Given the description of an element on the screen output the (x, y) to click on. 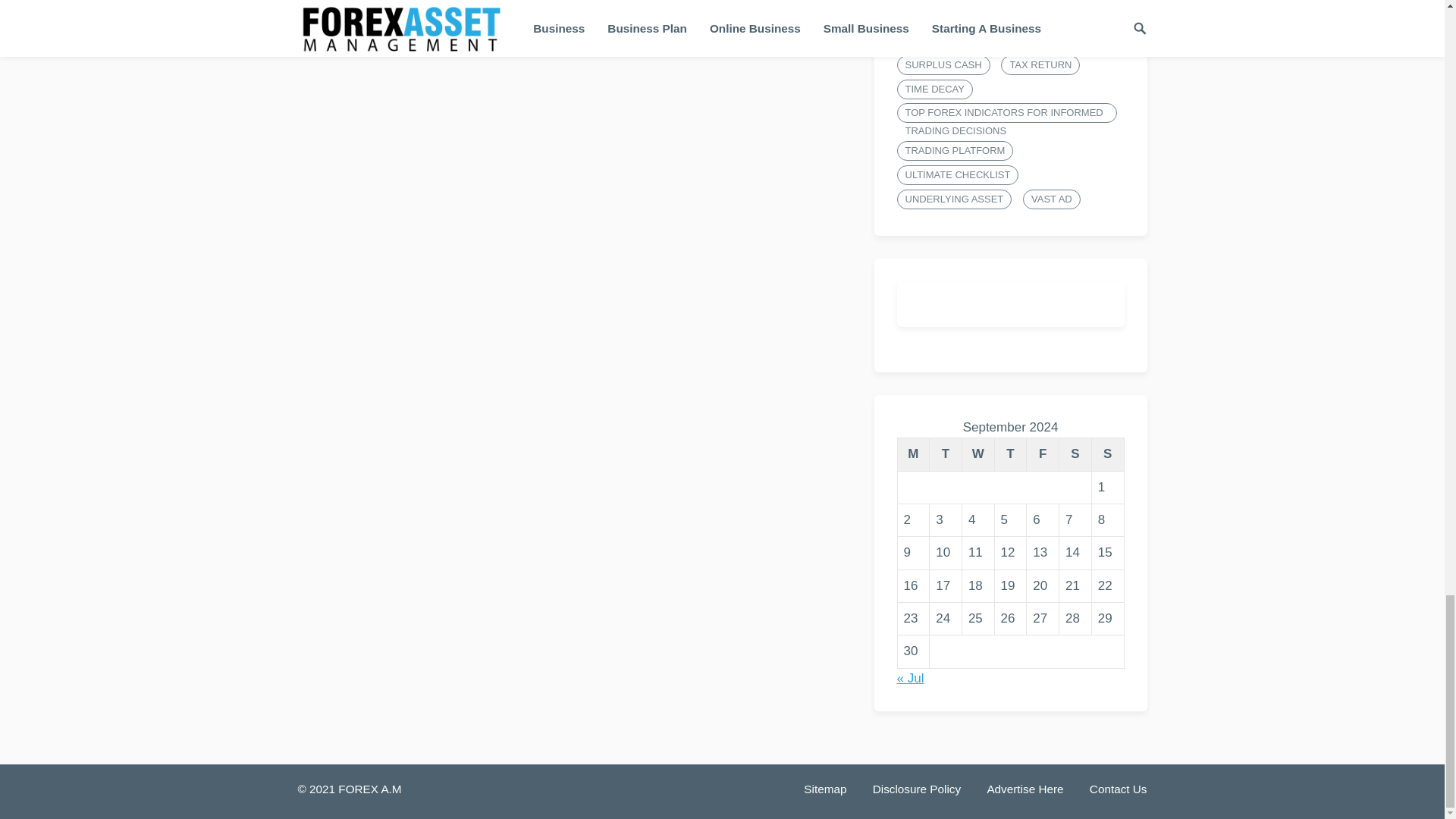
Thursday (1010, 454)
Wednesday (977, 454)
Saturday (1075, 454)
Friday (1042, 454)
Monday (913, 454)
Sunday (1107, 454)
Tuesday (946, 454)
